Given the description of an element on the screen output the (x, y) to click on. 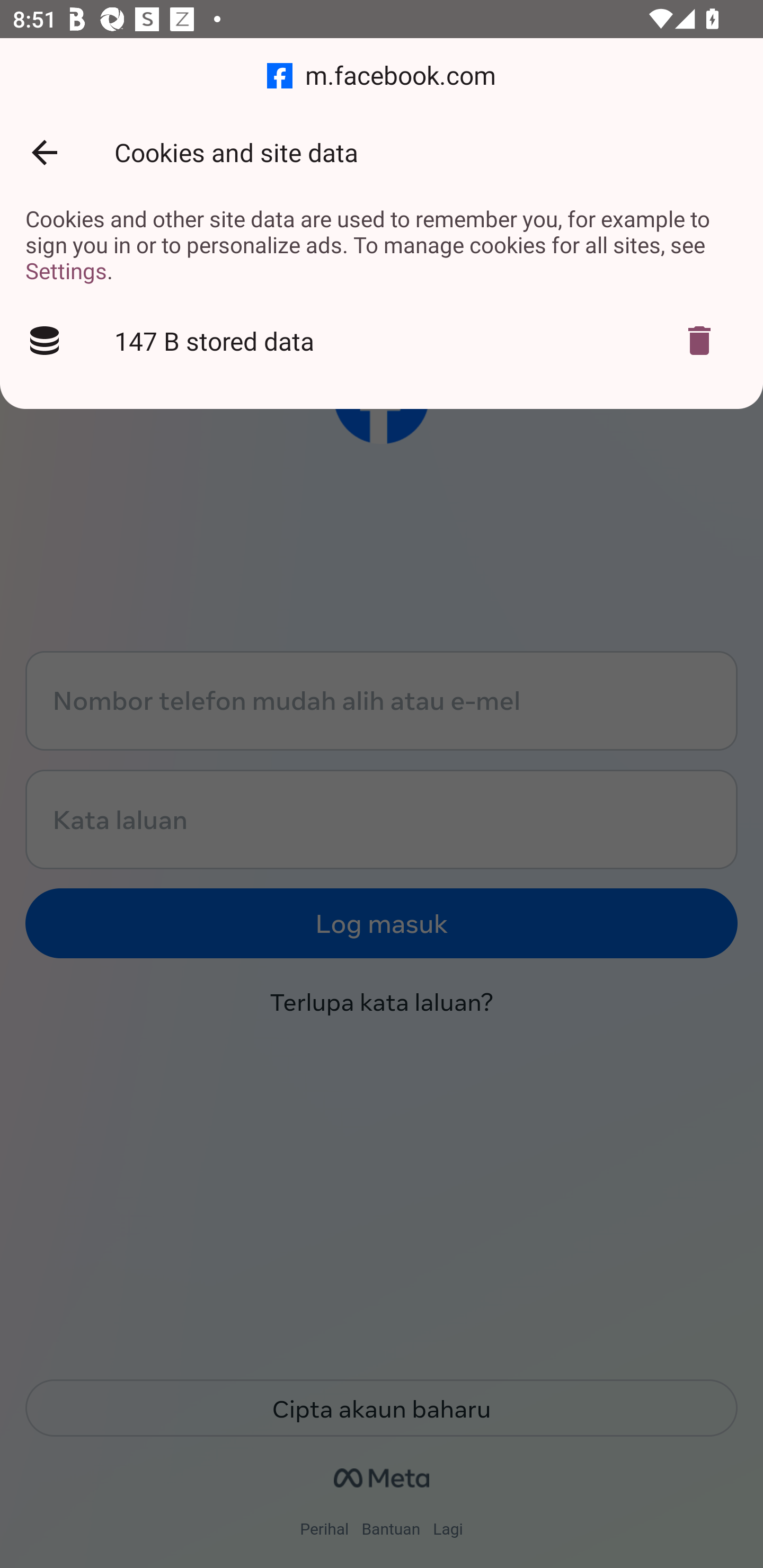
m.facebook.com (381, 75)
Back (44, 152)
147 B stored data Delete cookies? (381, 340)
